Given the description of an element on the screen output the (x, y) to click on. 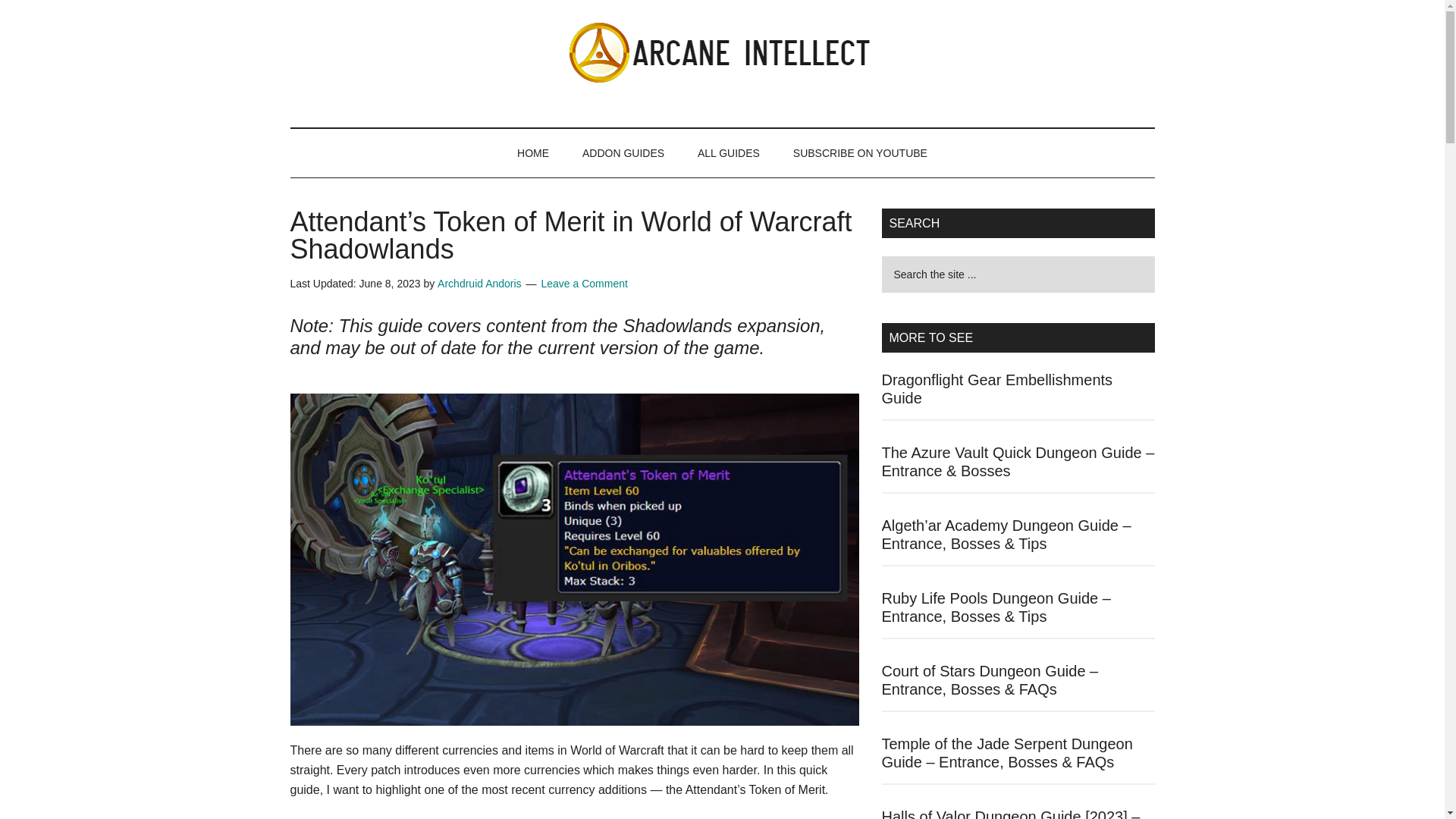
Leave a Comment (584, 283)
HOME (533, 152)
ADDON GUIDES (623, 152)
Archdruid Andoris (479, 283)
SUBSCRIBE ON YOUTUBE (859, 152)
ALL GUIDES (728, 152)
